Given the description of an element on the screen output the (x, y) to click on. 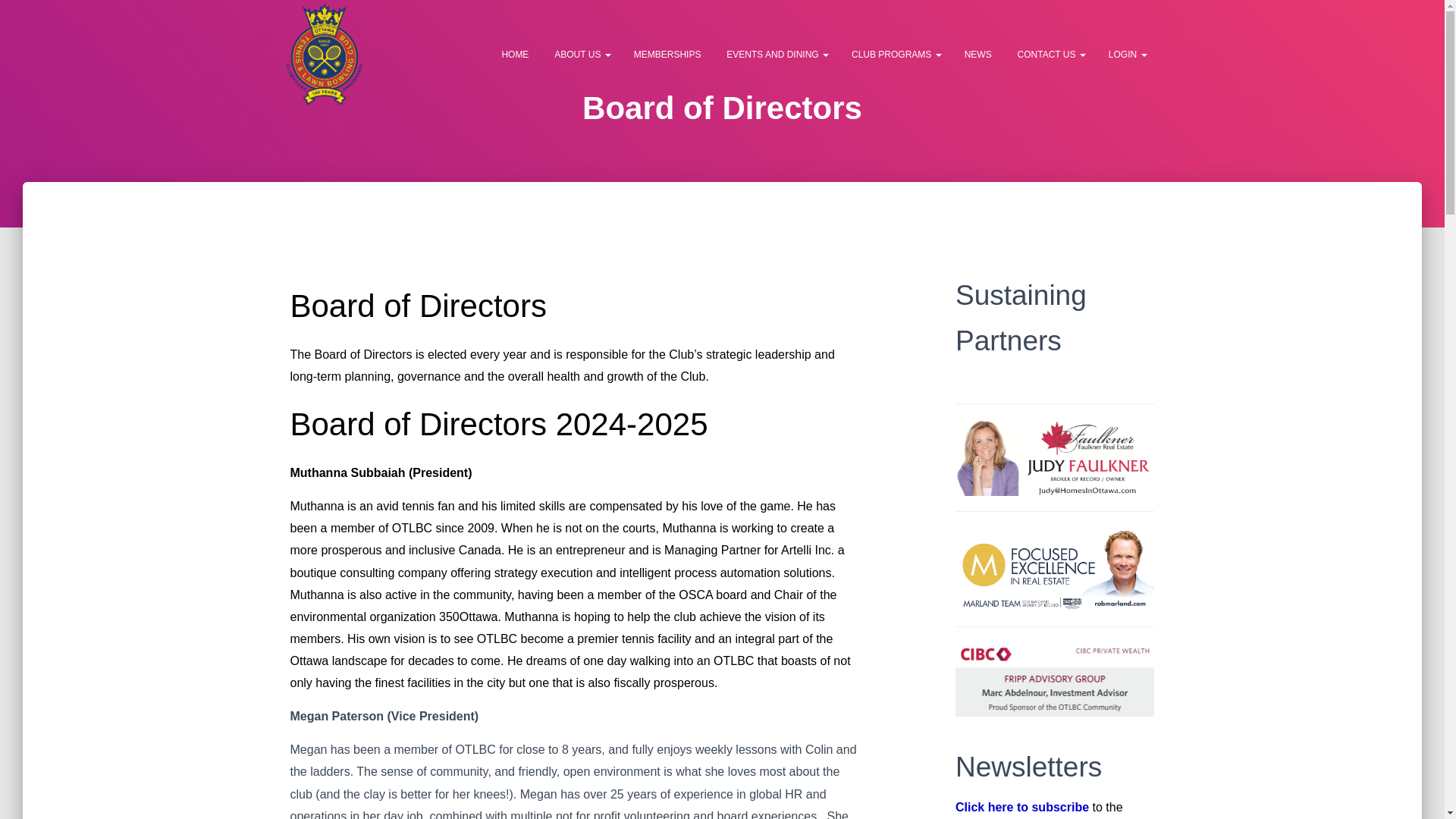
LOGIN (1127, 54)
MEMBERSHIPS (668, 54)
NEWS (978, 54)
HOME (514, 54)
ABOUT US (582, 54)
CONTACT US (1051, 54)
EVENTS AND DINING (777, 54)
CLUB PROGRAMS (896, 54)
